Given the description of an element on the screen output the (x, y) to click on. 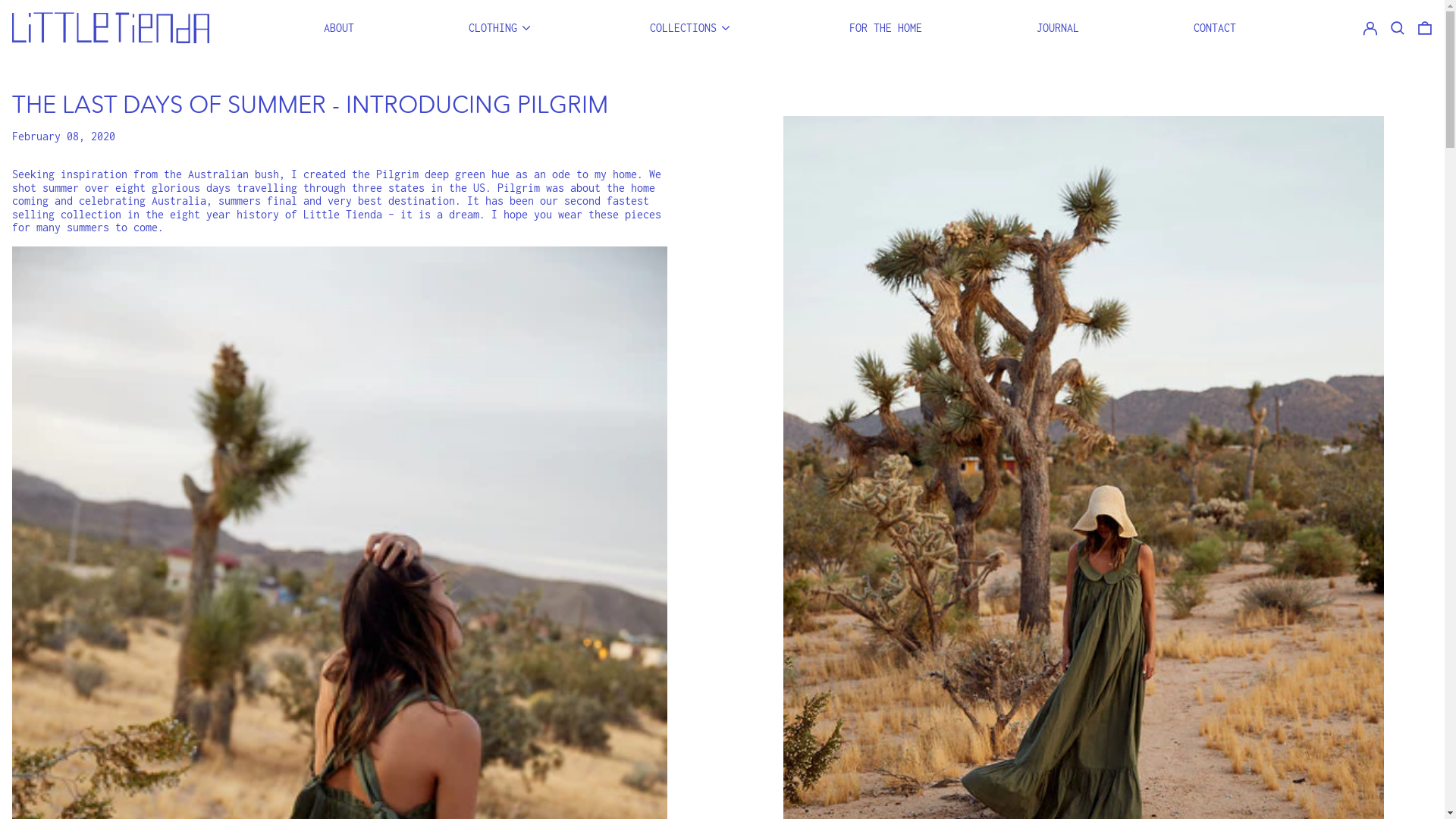
0 ITEMS Element type: text (1424, 27)
SEARCH Element type: text (1397, 27)
CLOTHING Element type: text (501, 27)
ABOUT Element type: text (338, 27)
JOURNAL Element type: text (1057, 27)
CONTACT Element type: text (1214, 27)
LOG IN Element type: text (1369, 27)
FOR THE HOME Element type: text (885, 27)
COLLECTIONS Element type: text (691, 27)
